Given the description of an element on the screen output the (x, y) to click on. 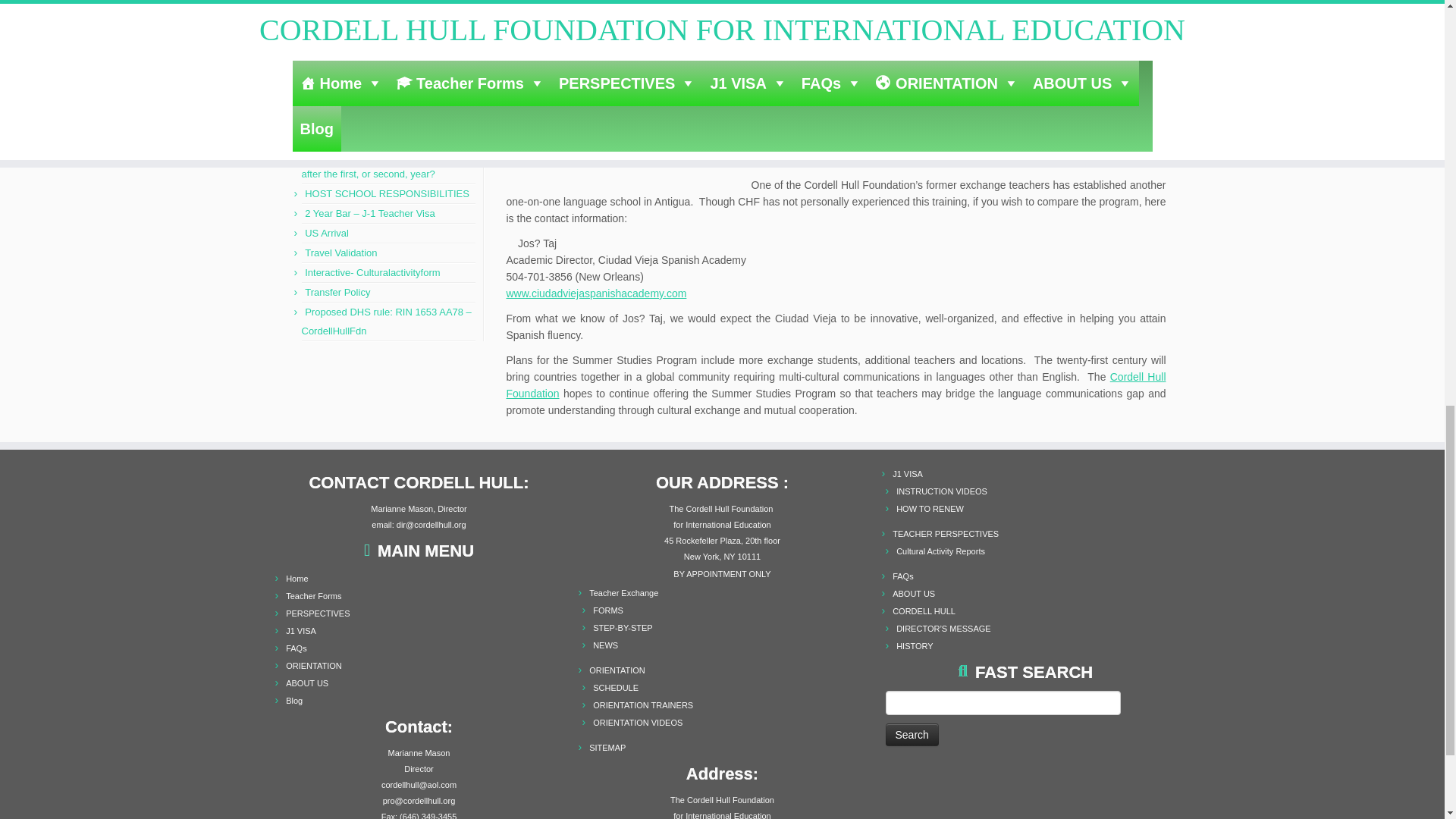
Search (912, 734)
